Given the description of an element on the screen output the (x, y) to click on. 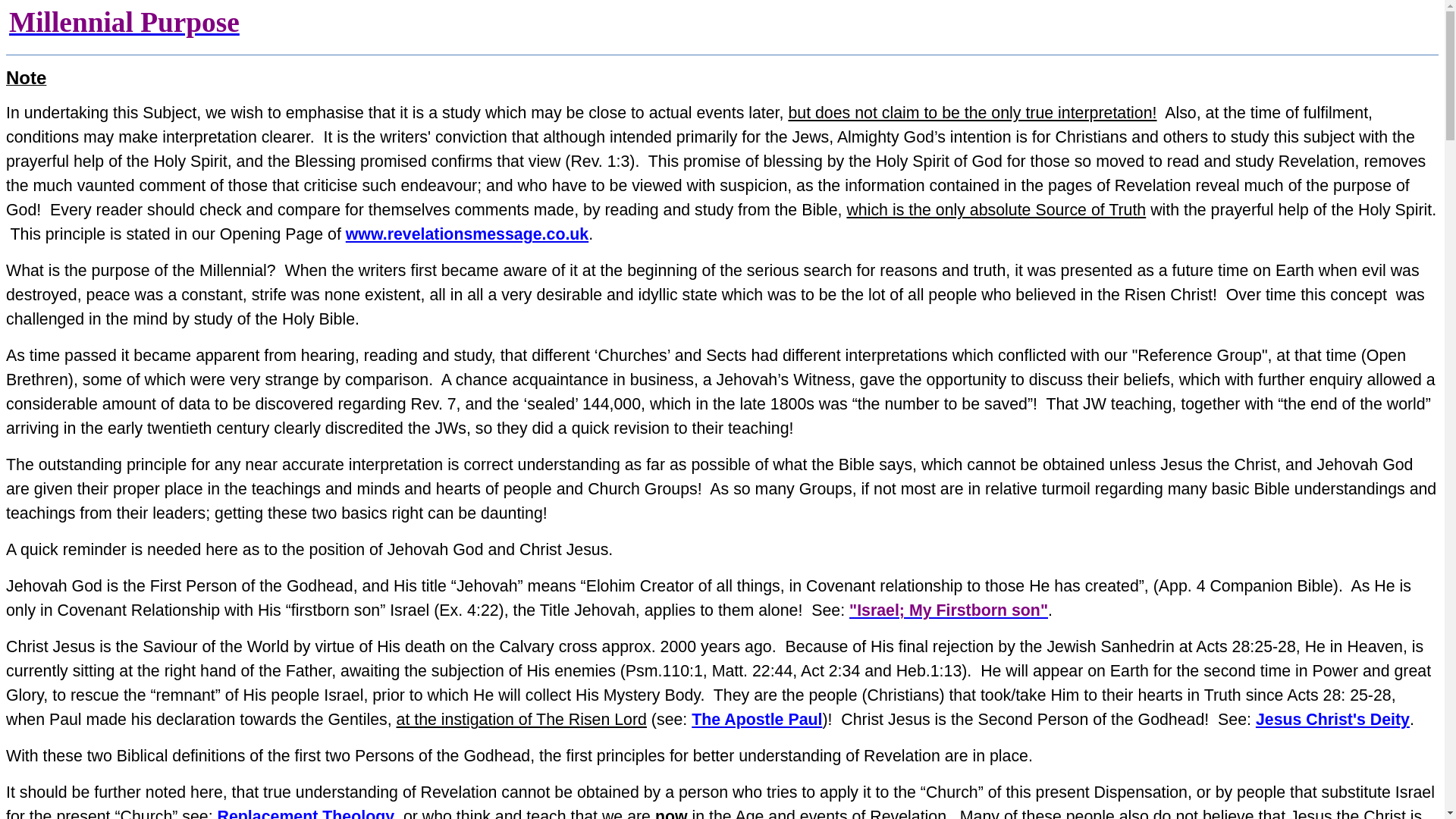
The Deity of Jesus Christ (1332, 719)
Jesus Christ's Deity (1332, 719)
The Apostle Paul (756, 719)
"Israel; My Firstborn son" (948, 610)
Millennial Purpose (124, 21)
www.revelationsmessage.co.uk (467, 234)
Replacement Theology (305, 813)
Israel My Firstborn son (948, 610)
Replacement Theology (305, 813)
Millennial Purpose (124, 21)
